Given the description of an element on the screen output the (x, y) to click on. 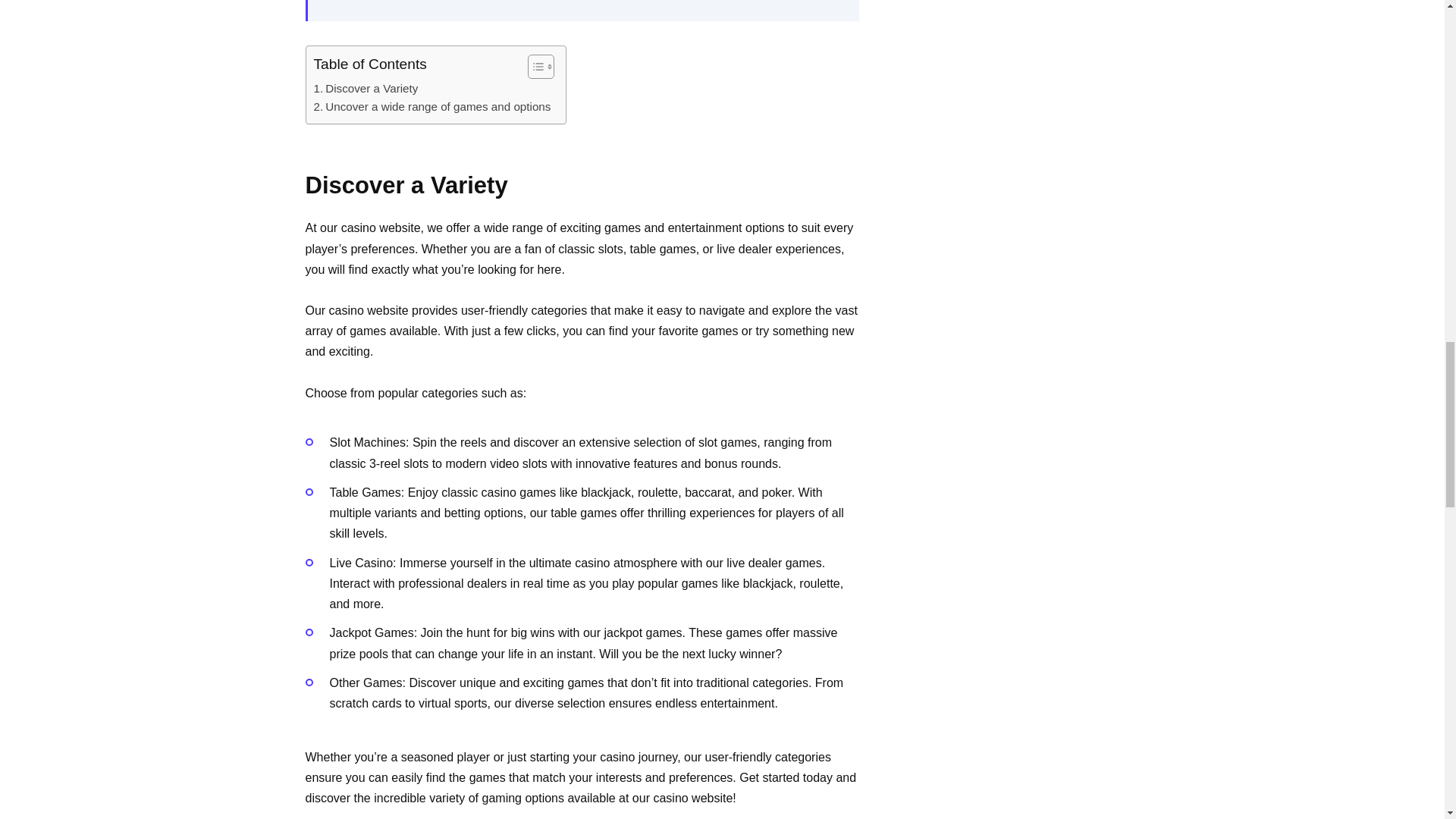
Uncover a wide range of games and options (432, 106)
Discover a Variety (366, 88)
Uncover a wide range of games and options (432, 106)
Discover a Variety (366, 88)
